Given the description of an element on the screen output the (x, y) to click on. 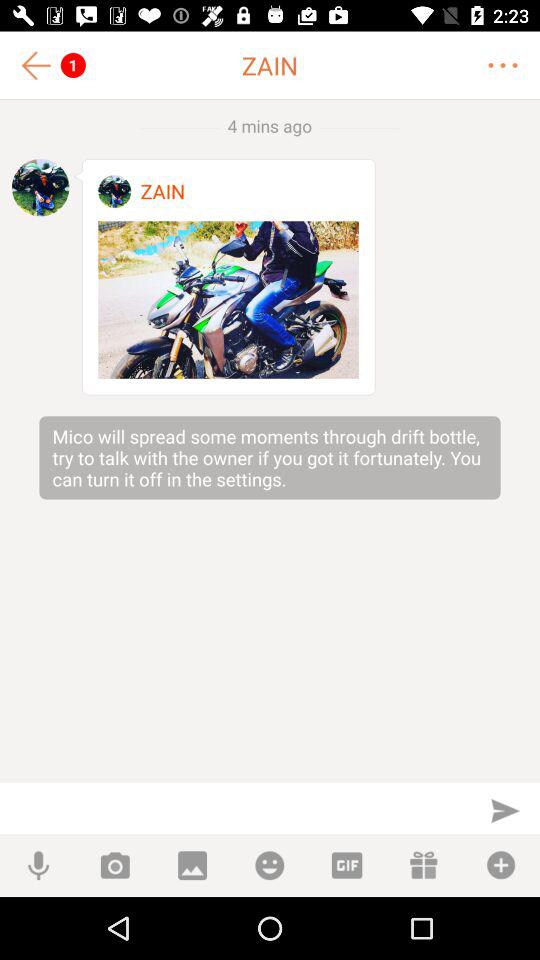
display profile image (40, 187)
